Given the description of an element on the screen output the (x, y) to click on. 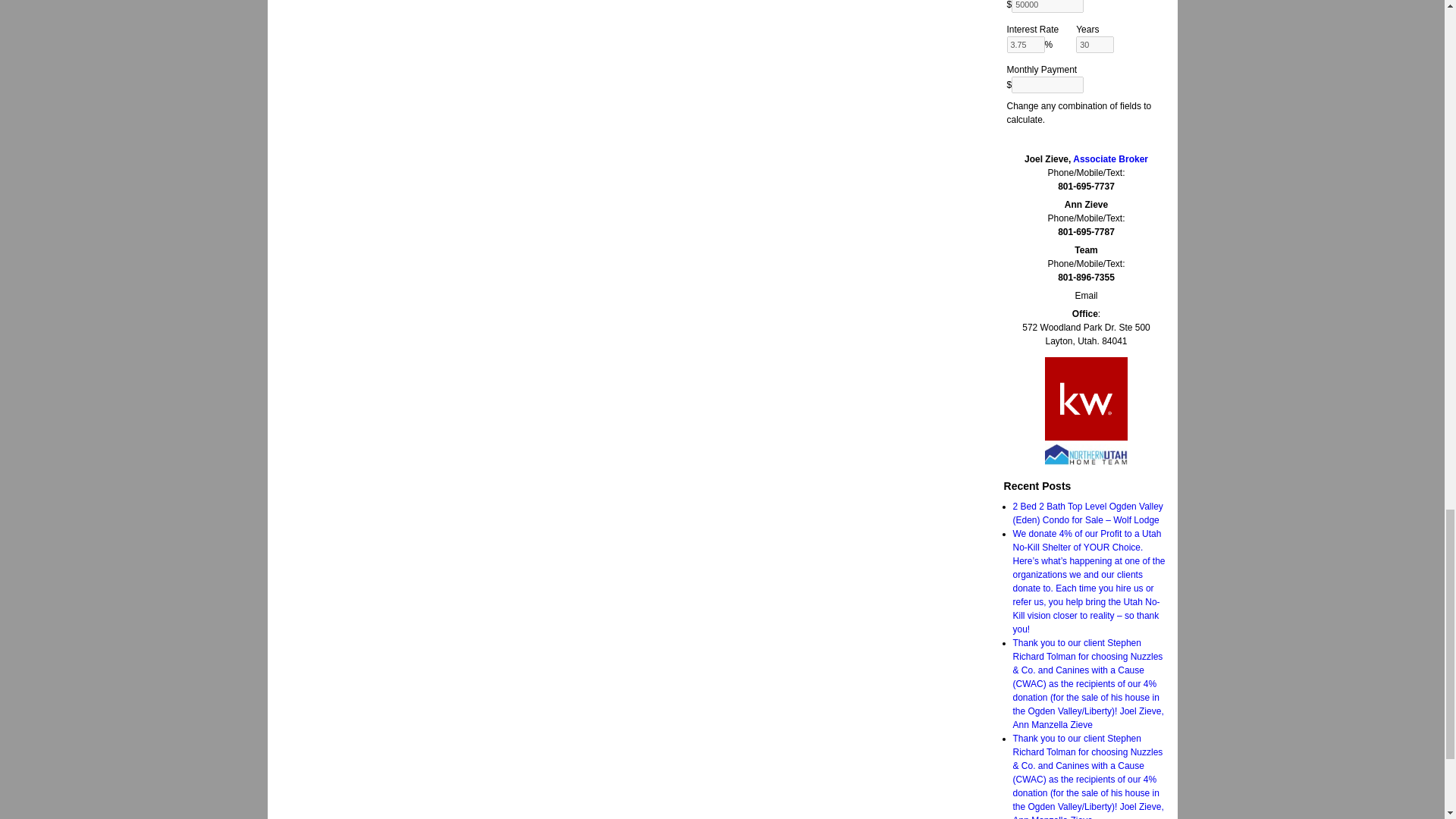
50000 (1047, 6)
30 (1094, 44)
3.75 (1026, 44)
